Given the description of an element on the screen output the (x, y) to click on. 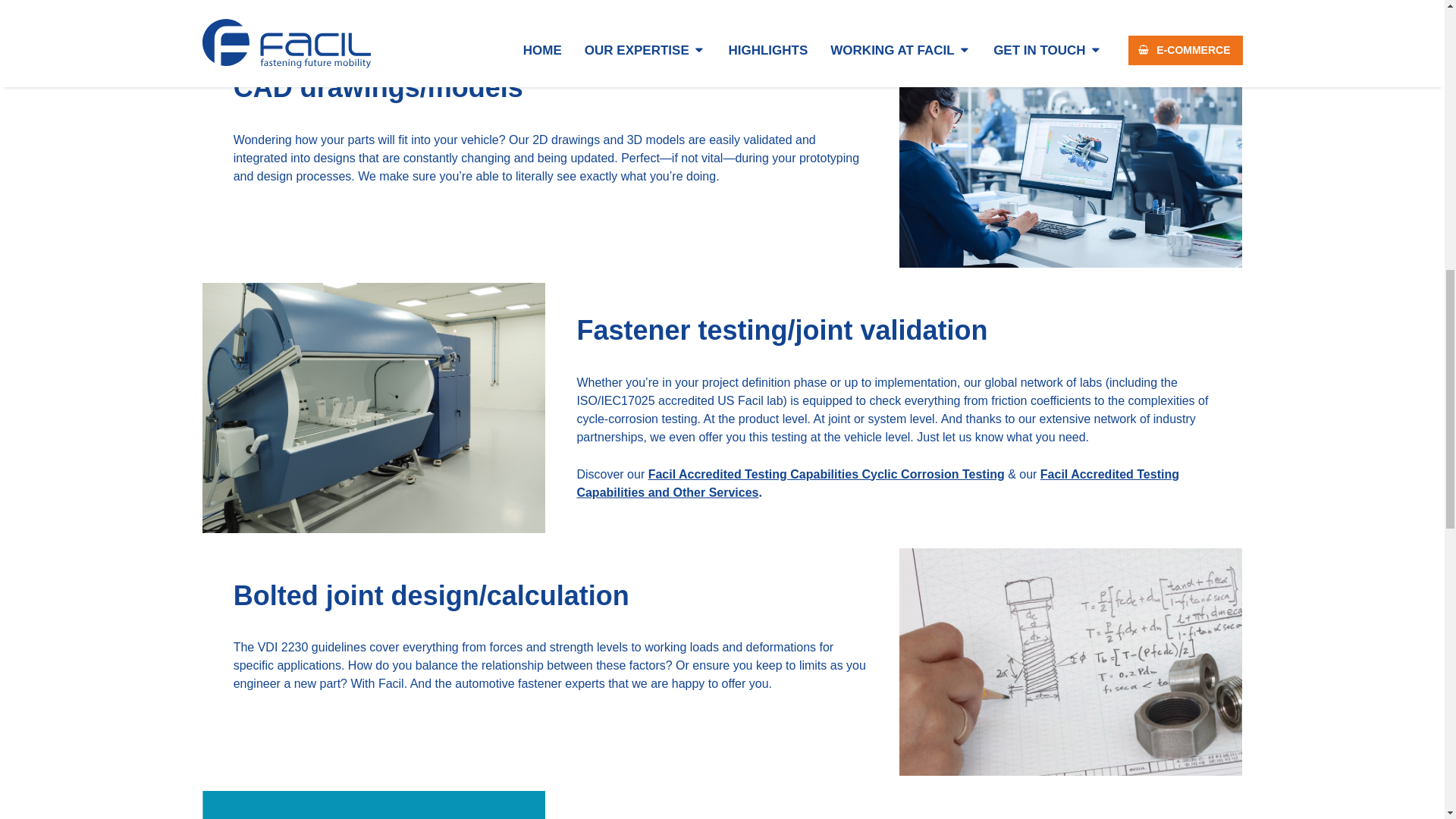
Facil Cyclic Corrosion Testing Flyer Nov 2023 (825, 473)
Facil Fastener Testing Capabilities And Other Services (877, 482)
Facil Accredited Testing Capabilities and Other Services (877, 482)
